Given the description of an element on the screen output the (x, y) to click on. 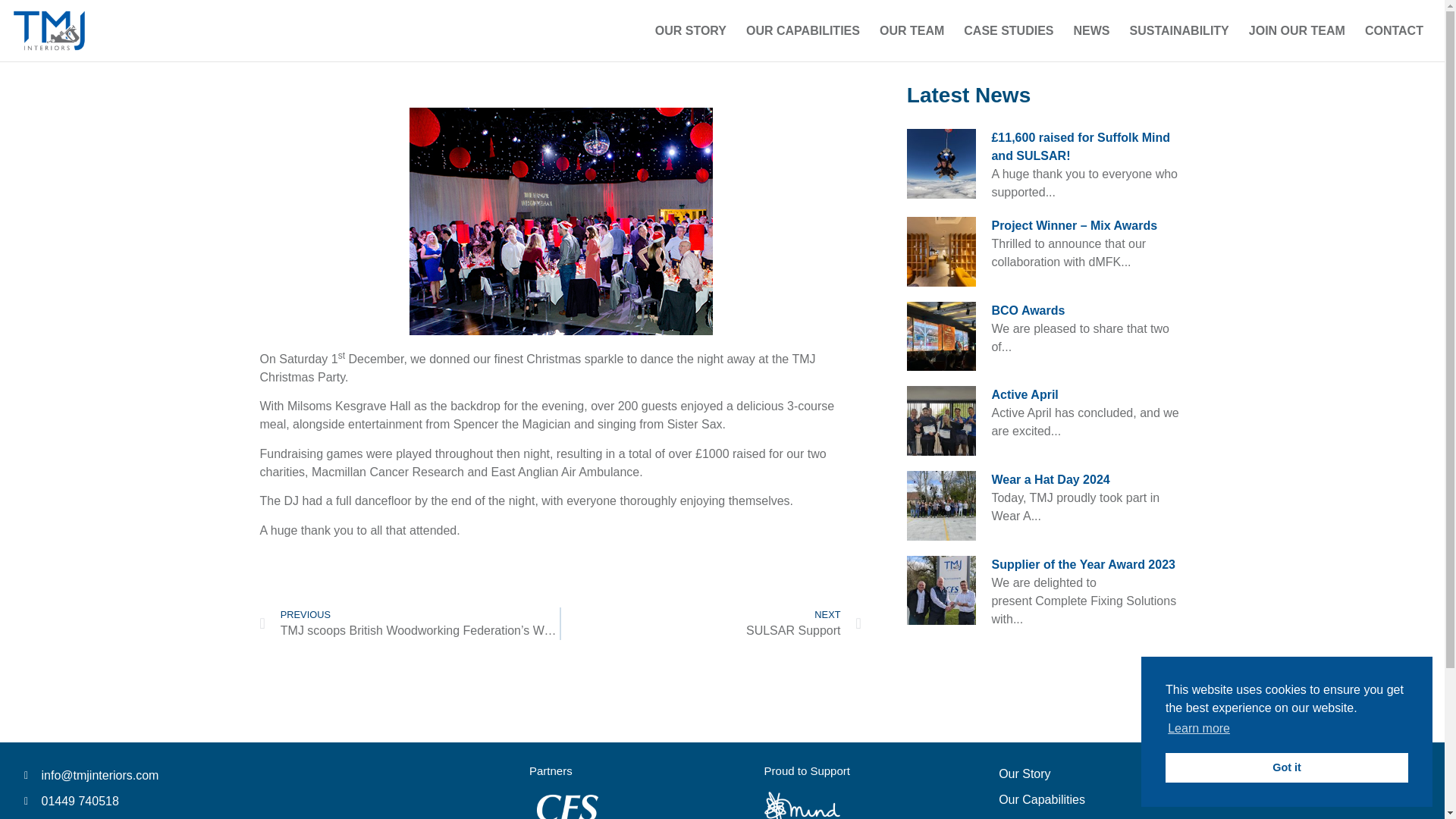
CONTACT (1393, 30)
NEWS (1091, 30)
SUSTAINABILITY (1179, 30)
OUR STORY (690, 30)
OUR CAPABILITIES (802, 30)
OUR TEAM (911, 30)
JOIN OUR TEAM (1297, 30)
CASE STUDIES (710, 623)
